Given the description of an element on the screen output the (x, y) to click on. 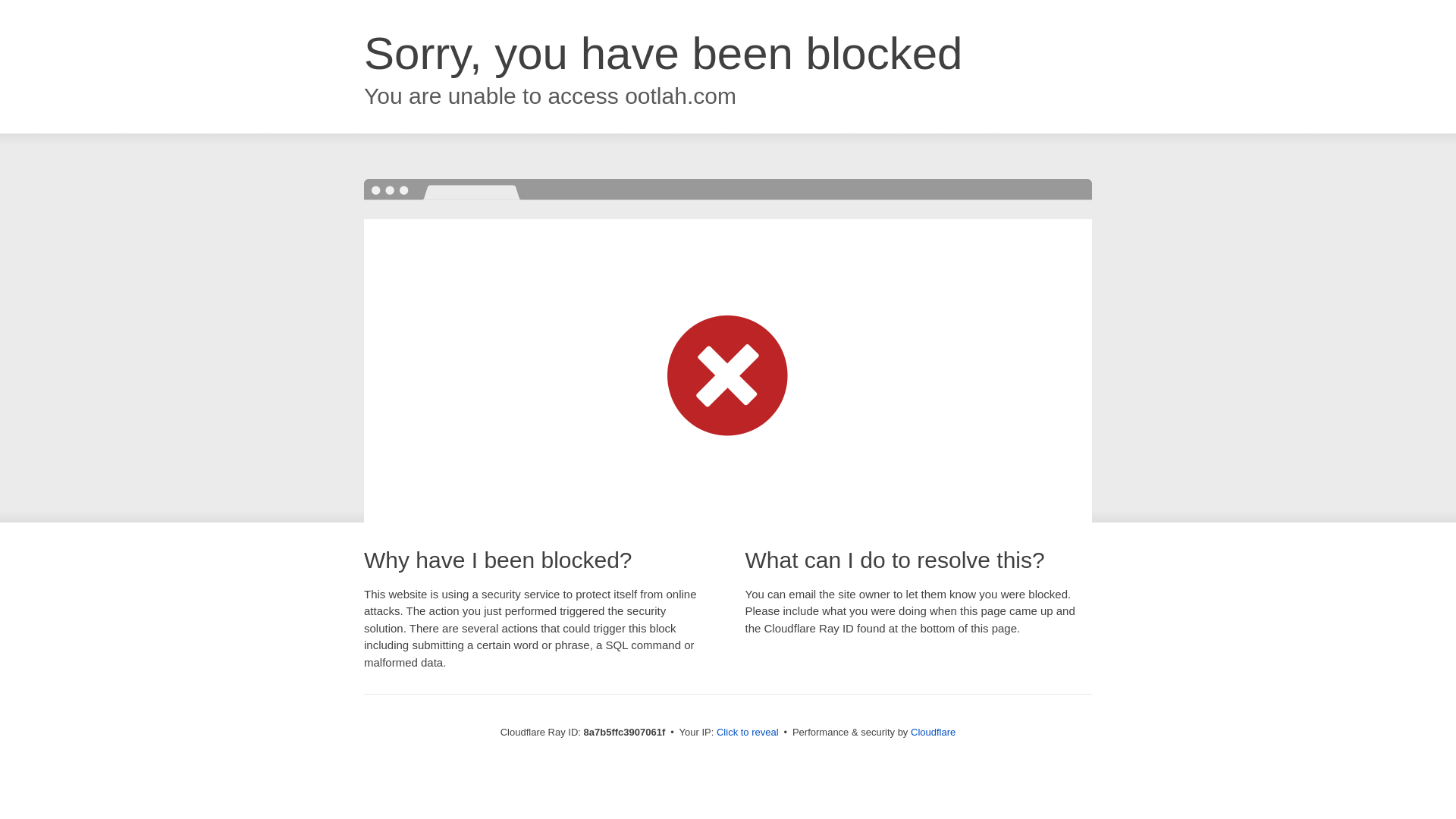
Cloudflare (933, 731)
Click to reveal (747, 732)
